Given the description of an element on the screen output the (x, y) to click on. 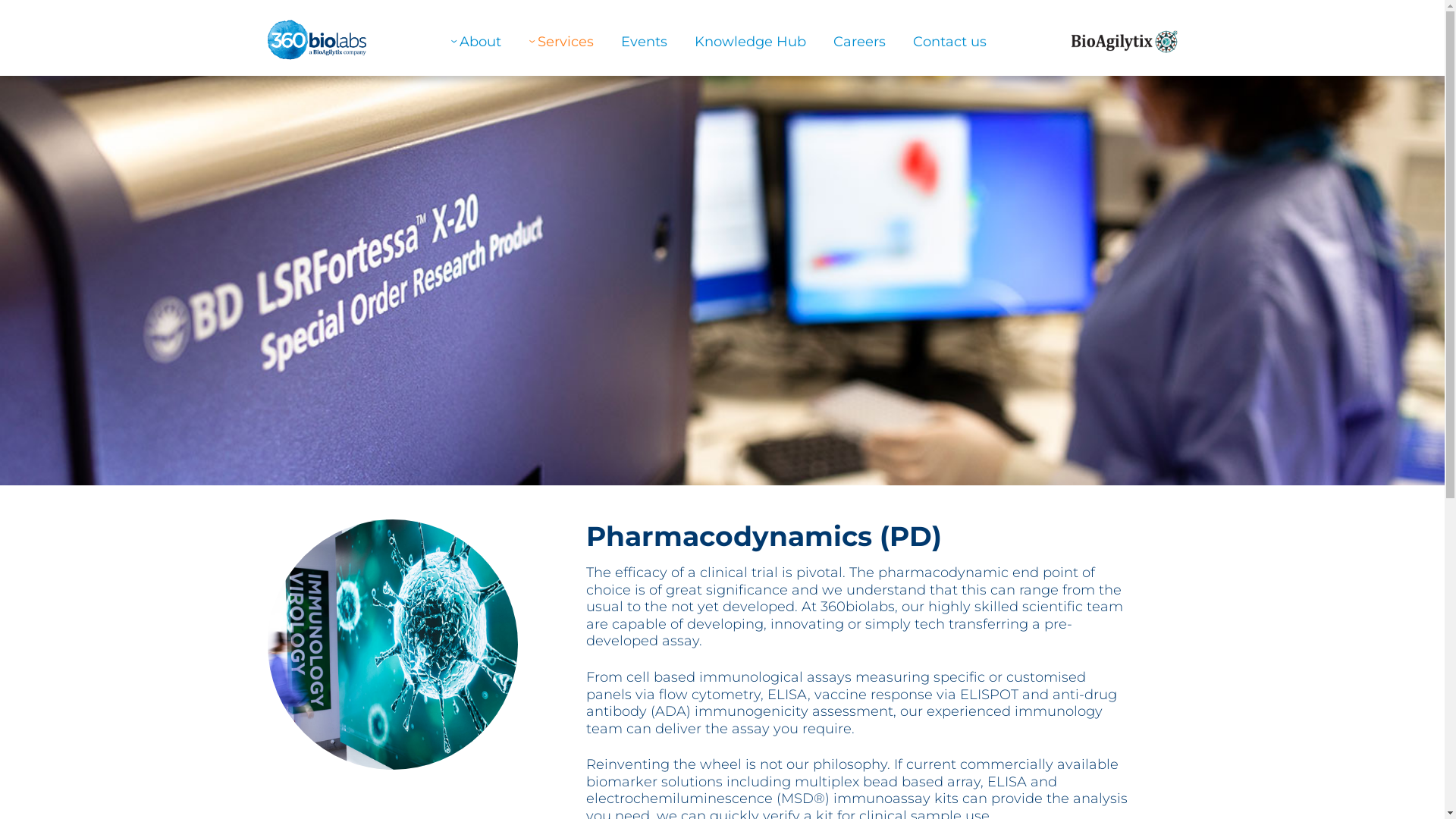
Knowledge Hub Element type: text (750, 41)
Contact us Element type: text (949, 41)
Services Element type: text (560, 41)
Careers Element type: text (859, 41)
Events Element type: text (644, 41)
About Element type: text (475, 41)
